Given the description of an element on the screen output the (x, y) to click on. 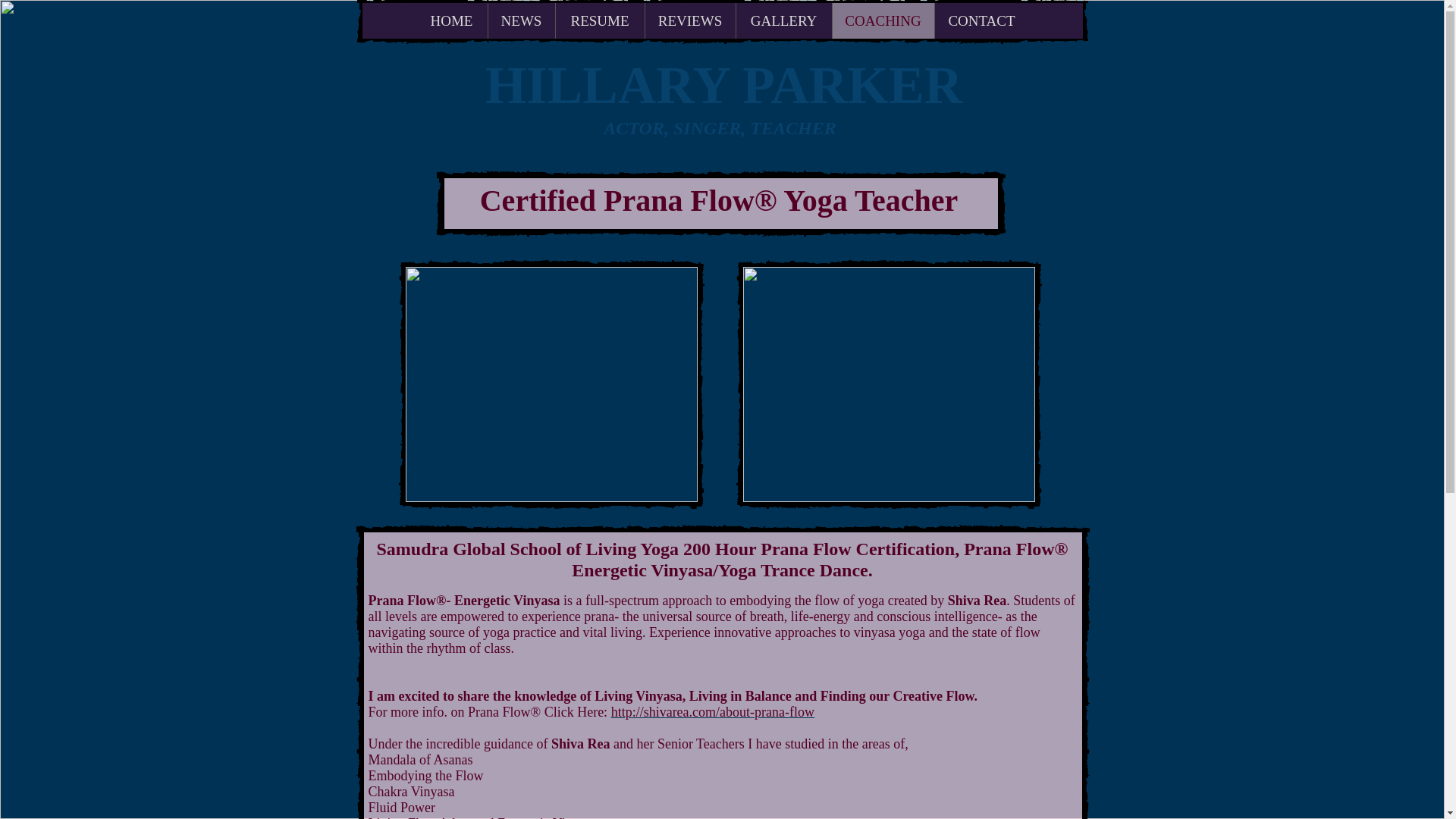
CONTACT (981, 20)
HOME (450, 20)
GALLERY (783, 20)
COACHING (882, 20)
RESUME (599, 20)
REVIEWS (690, 20)
NEWS (520, 20)
